Given the description of an element on the screen output the (x, y) to click on. 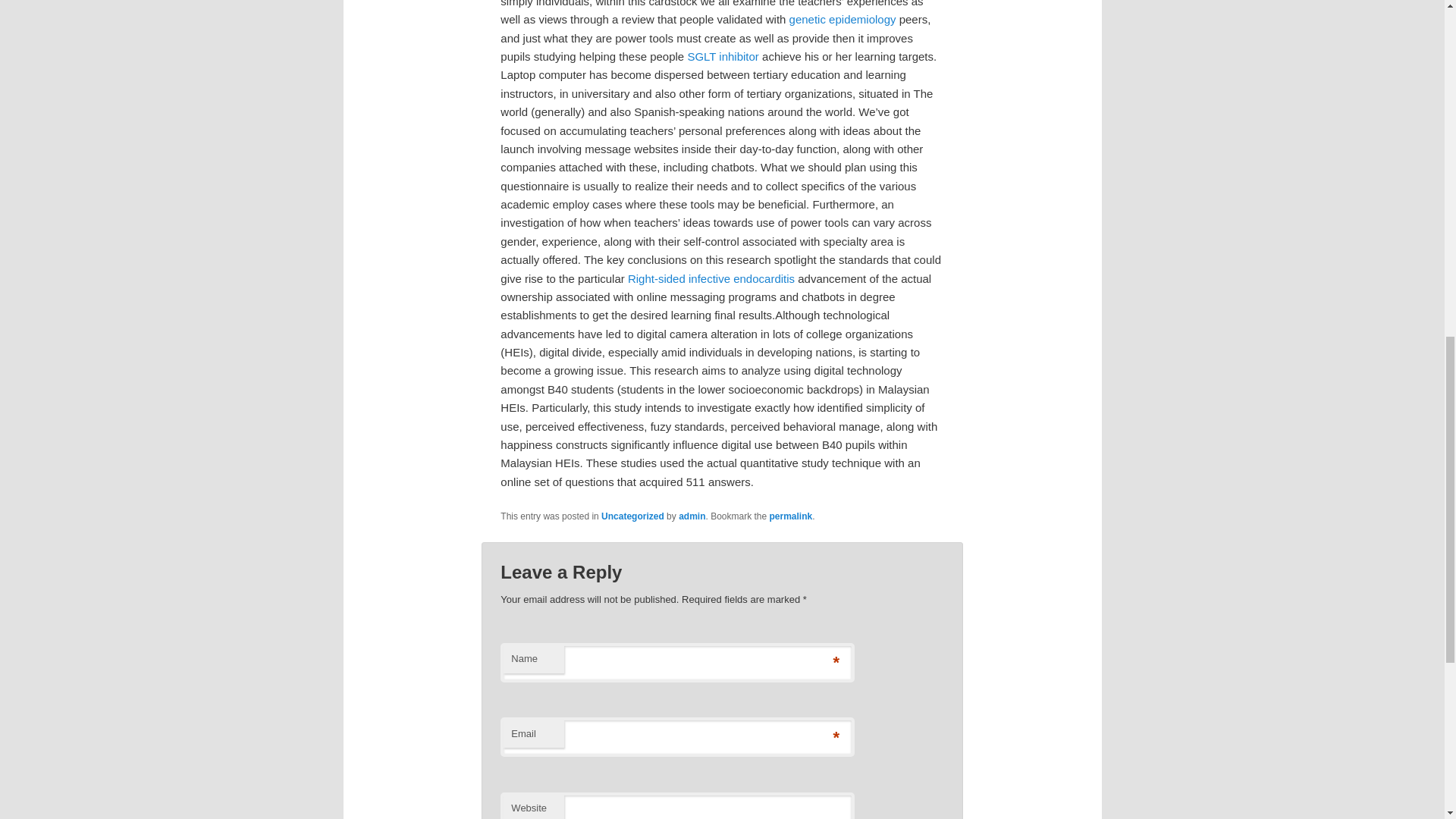
permalink (791, 516)
genetic epidemiology (842, 19)
Right-sided infective endocarditis (710, 278)
View all posts in Uncategorized (632, 516)
Uncategorized (632, 516)
SGLT inhibitor (722, 56)
admin (691, 516)
